Given the description of an element on the screen output the (x, y) to click on. 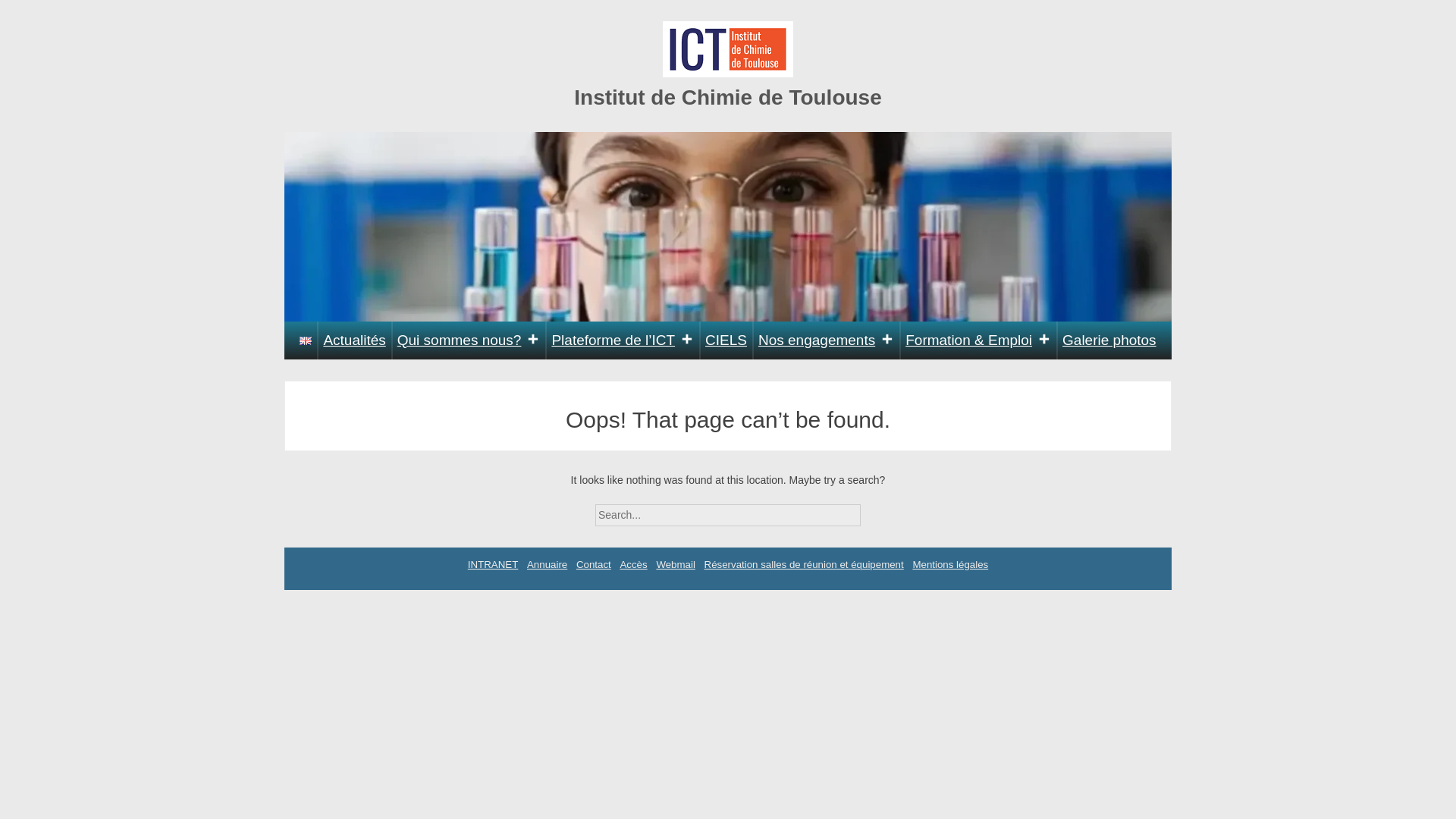
Qui sommes nous? (468, 340)
Institut de Chimie de Toulouse (727, 97)
CIELS (726, 340)
Nos engagements (825, 340)
Search (873, 509)
Search (873, 509)
